Given the description of an element on the screen output the (x, y) to click on. 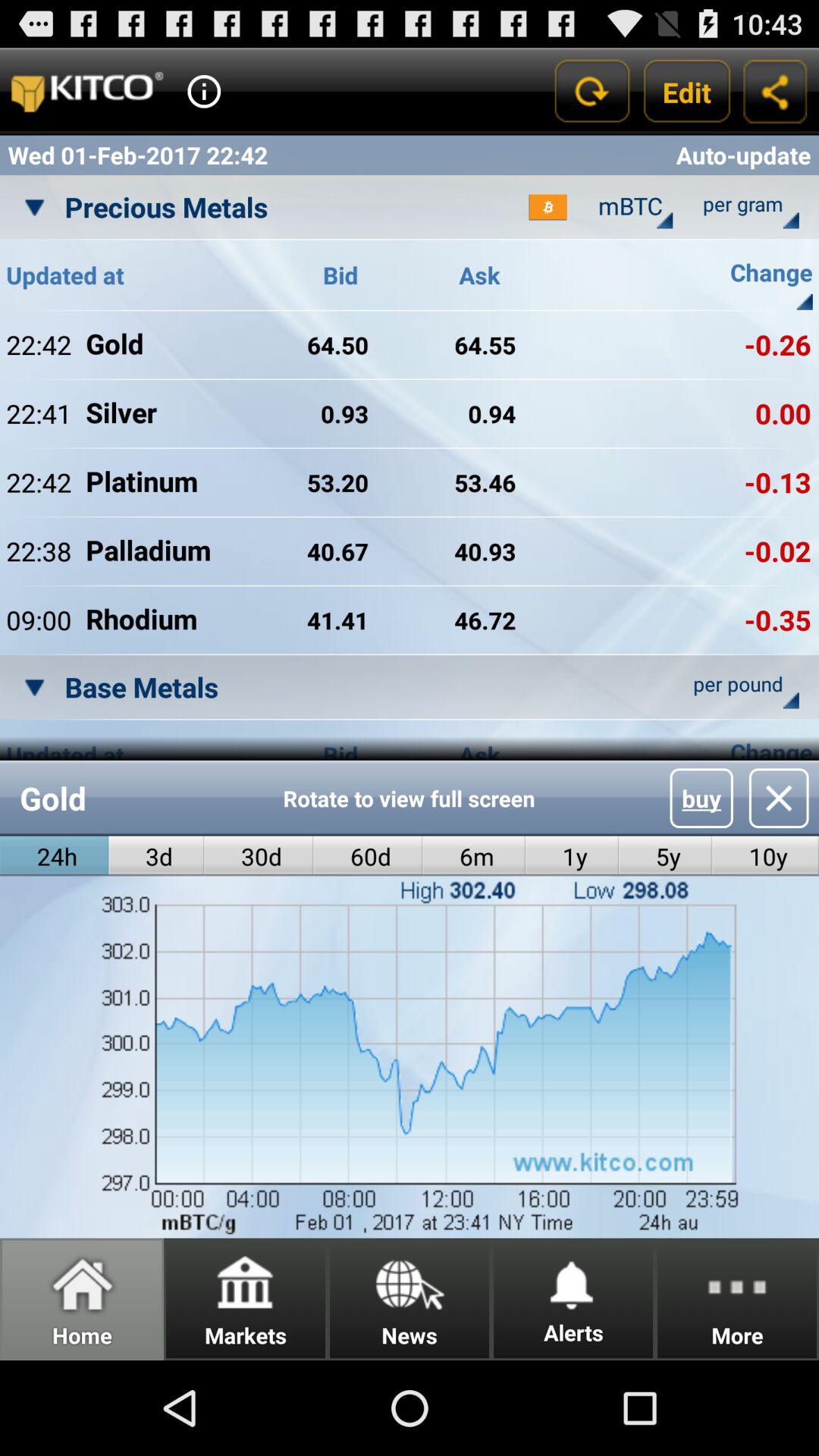
refresh button (591, 91)
